Given the description of an element on the screen output the (x, y) to click on. 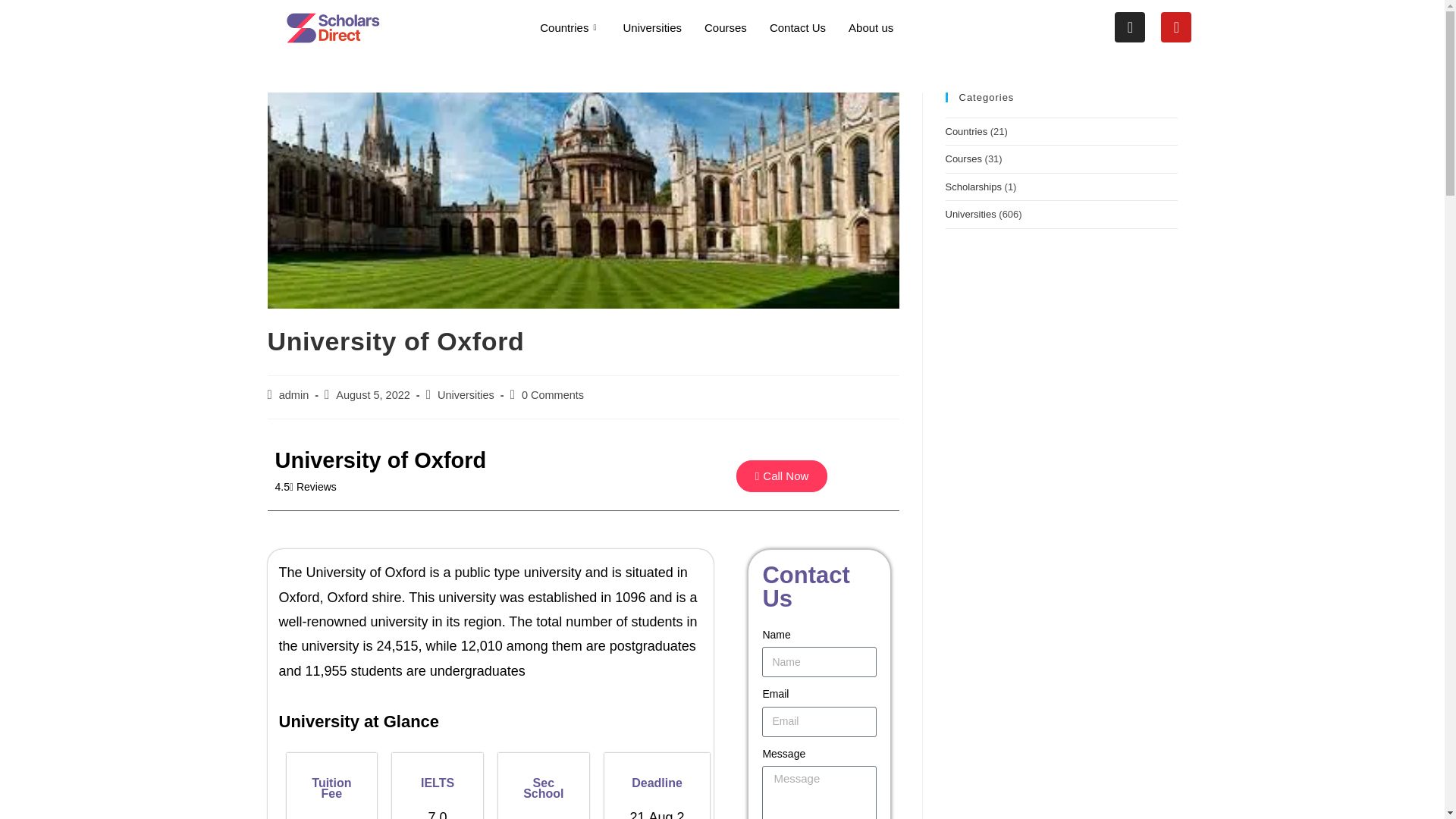
Countries (569, 26)
0 Comments (552, 394)
Call Now (782, 476)
Courses (725, 26)
admin (293, 394)
About us (870, 26)
Universities (466, 394)
Universities (652, 26)
Contact Us (797, 26)
Posts by admin (293, 394)
